Given the description of an element on the screen output the (x, y) to click on. 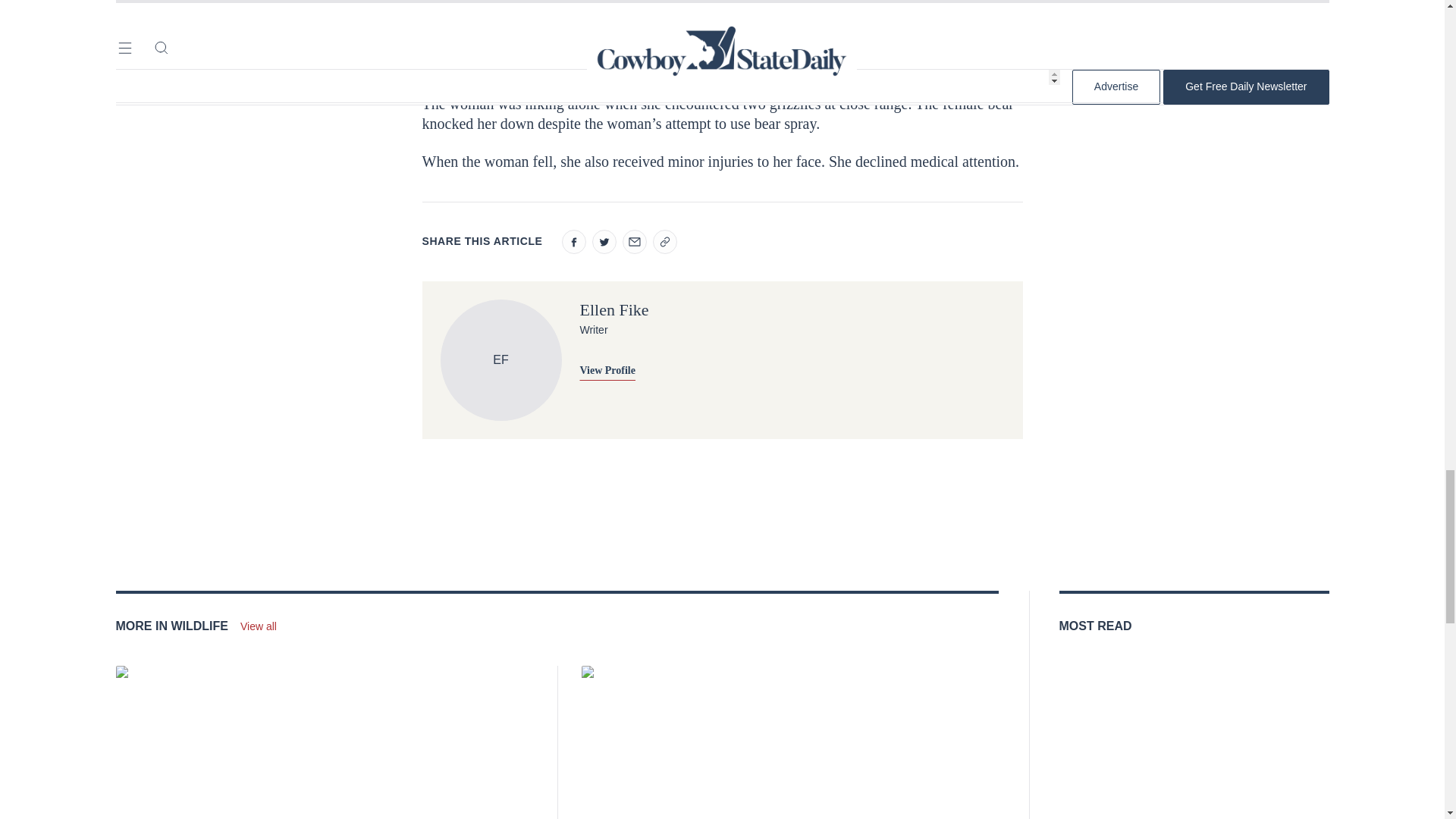
knocked a woman (693, 55)
Copy to clipboard (664, 241)
Facebook (572, 241)
